Given the description of an element on the screen output the (x, y) to click on. 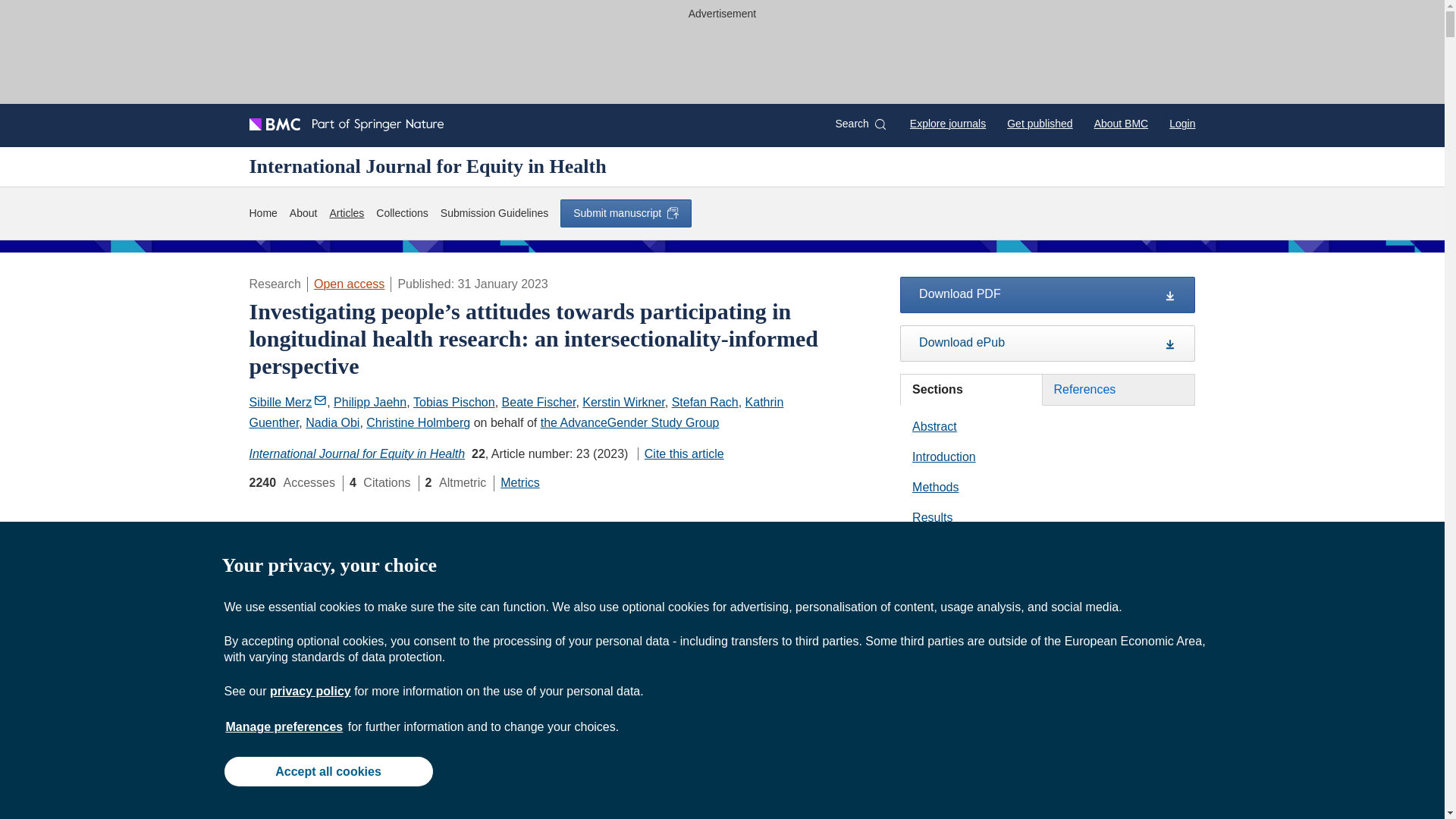
Kerstin Wirkner (622, 401)
Explore journals (947, 123)
Articles (346, 212)
Submission Guidelines (494, 212)
Sibille Merz (287, 401)
About BMC (1121, 123)
Home (262, 212)
Accept all cookies (328, 771)
Search (859, 123)
Beate Fischer (539, 401)
Login (1182, 123)
International Journal for Equity in Health (426, 166)
privacy policy (309, 690)
Tobias Pischon (454, 401)
